Given the description of an element on the screen output the (x, y) to click on. 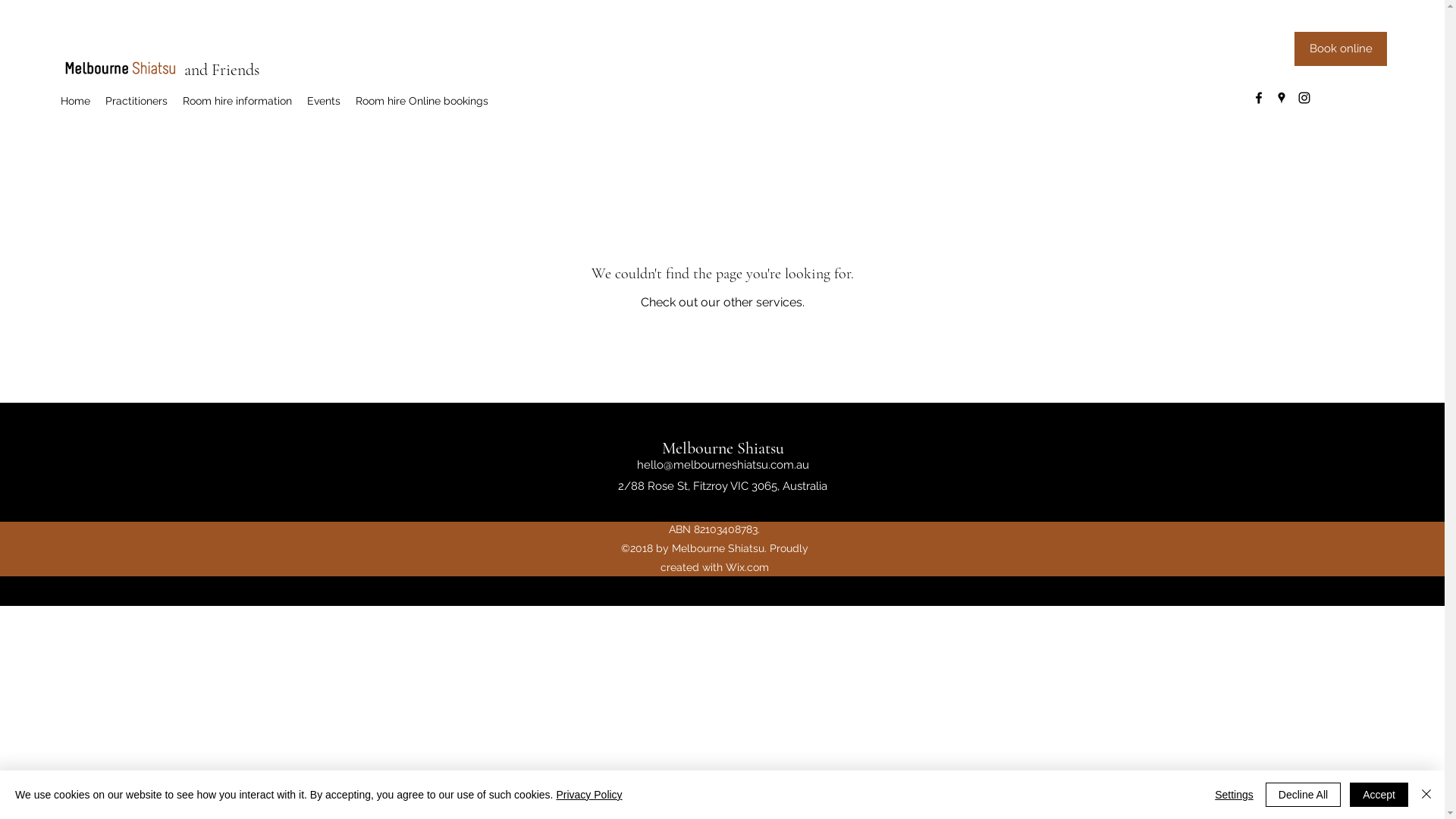
Room hire information Element type: text (237, 101)
Decline All Element type: text (1302, 794)
Book online Element type: text (1340, 48)
Practitioners Element type: text (136, 101)
hello@melbourneshiatsu.com.au Element type: text (723, 464)
Room hire Online bookings Element type: text (421, 101)
Accept Element type: text (1378, 794)
Events Element type: text (323, 101)
Privacy Policy Element type: text (588, 794)
Home Element type: text (75, 101)
